Given the description of an element on the screen output the (x, y) to click on. 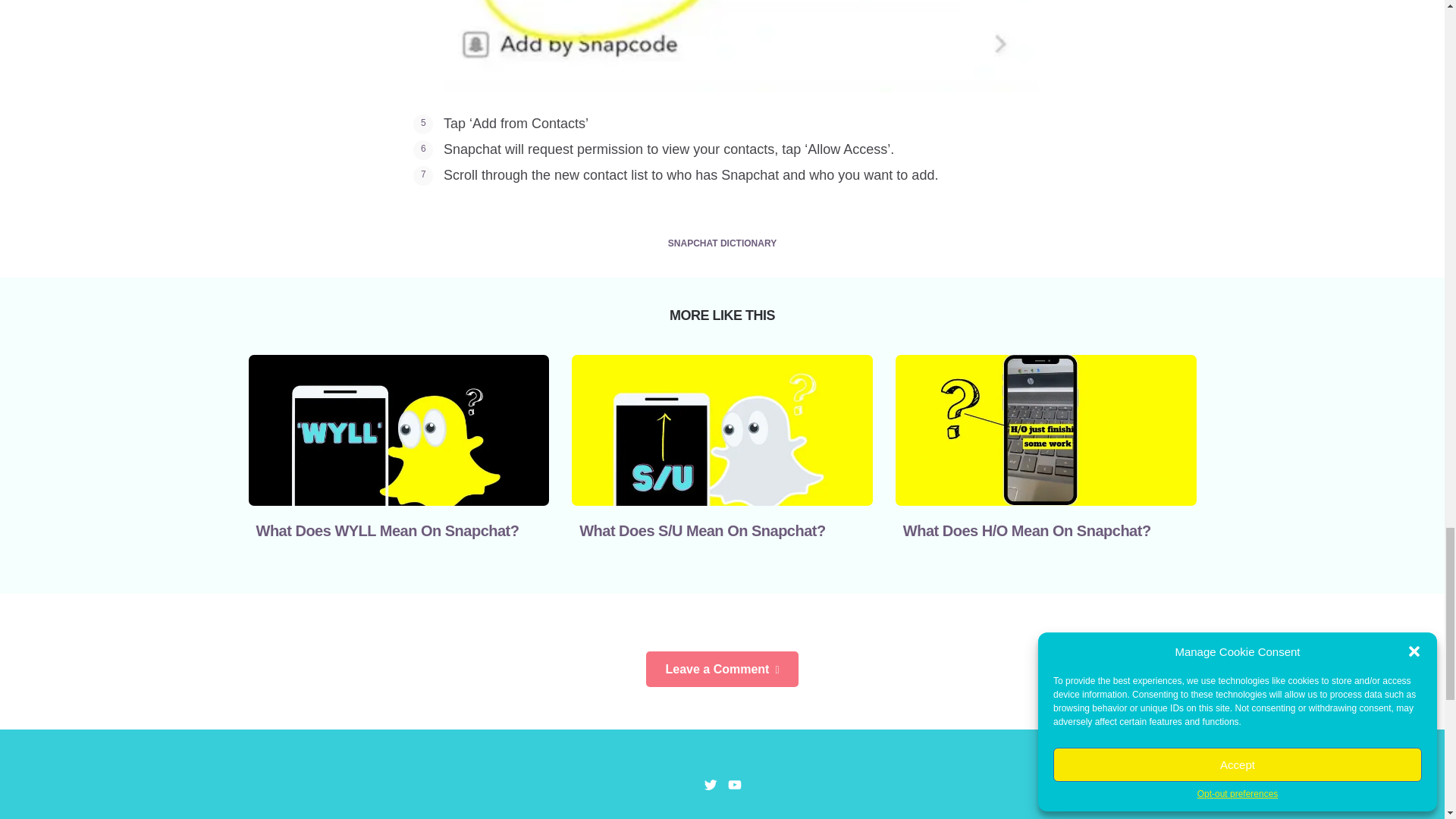
SNAPCHAT DICTIONARY (722, 244)
What Does WYLL Mean On Snapchat? (387, 530)
Twitter (709, 784)
